Given the description of an element on the screen output the (x, y) to click on. 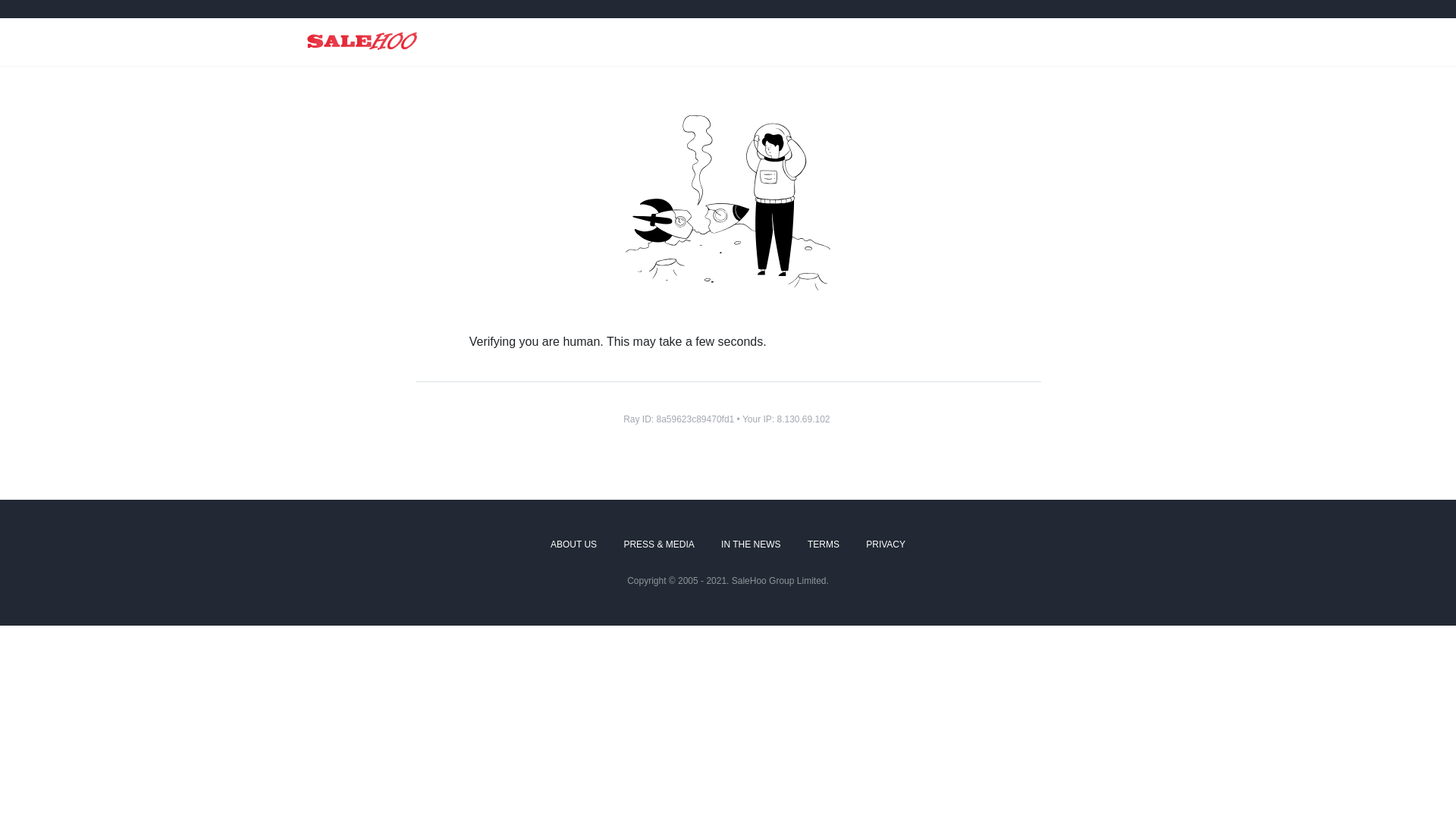
PRIVACY (885, 545)
ABOUT US (573, 545)
IN THE NEWS (750, 545)
TERMS (824, 545)
